Given the description of an element on the screen output the (x, y) to click on. 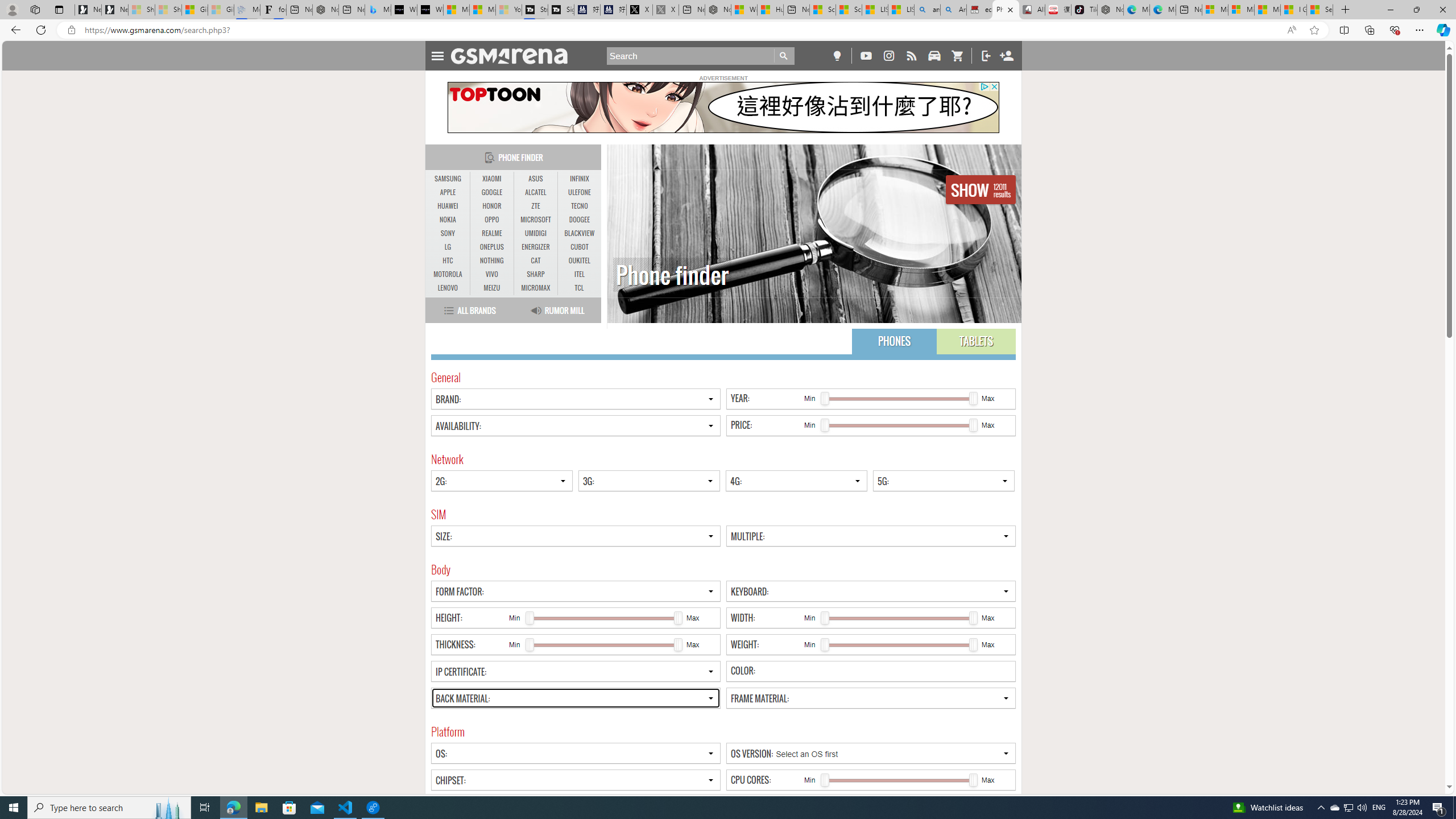
DOOGEE (579, 219)
GOOGLE (491, 192)
OPPO (491, 219)
ASUS (535, 178)
Microsoft Bing Travel - Shangri-La Hotel Bangkok (377, 9)
CAT (535, 260)
Toggle Navigation (437, 53)
